Given the description of an element on the screen output the (x, y) to click on. 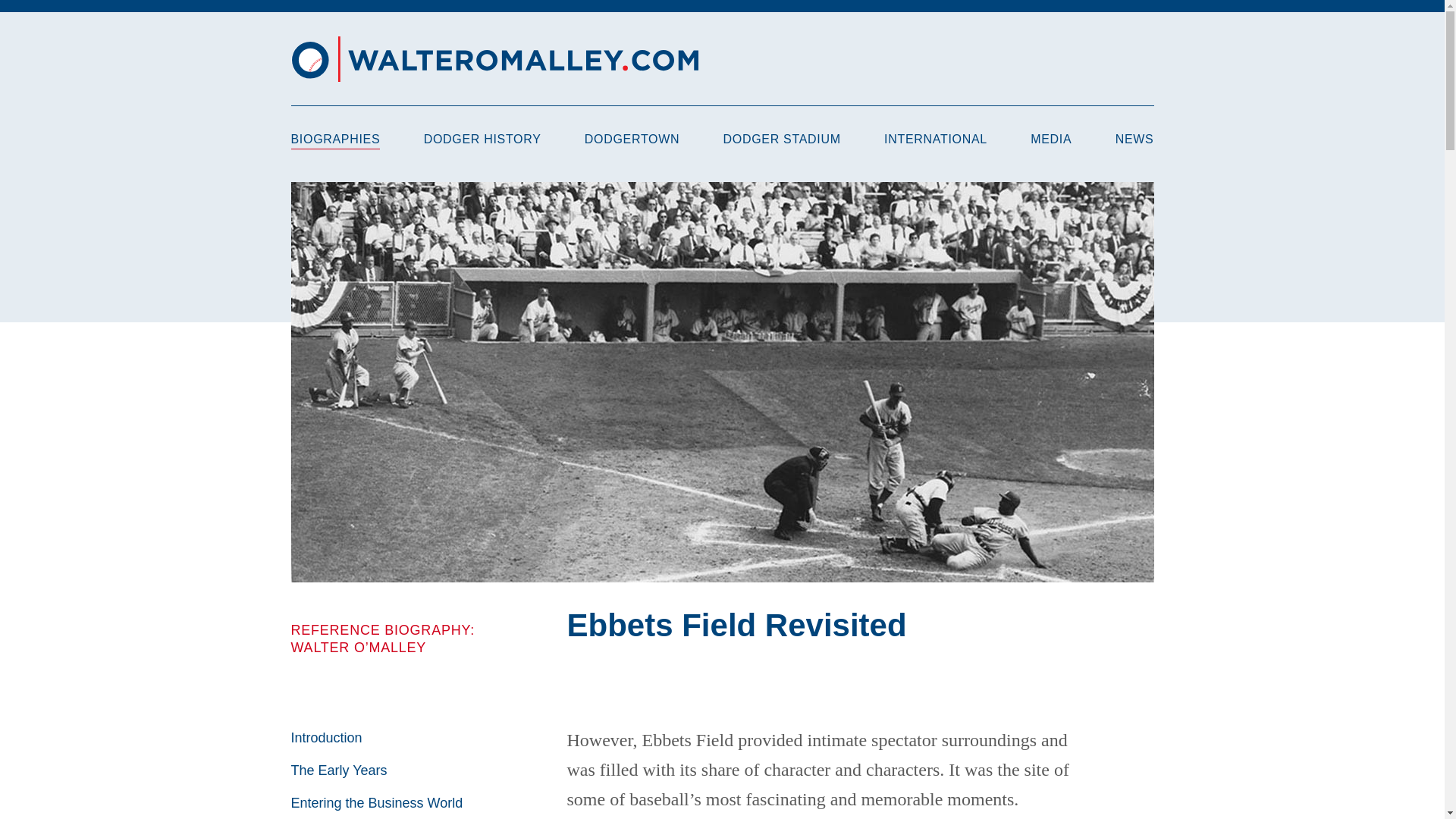
DODGER HISTORY (482, 139)
BIOGRAPHIES (335, 139)
INTERNATIONAL (935, 139)
The Early Years (339, 770)
DODGER STADIUM (782, 139)
MEDIA (1050, 139)
NEWS (1134, 139)
Introduction (326, 737)
DODGERTOWN (632, 139)
Entering the Business World (377, 802)
